Given the description of an element on the screen output the (x, y) to click on. 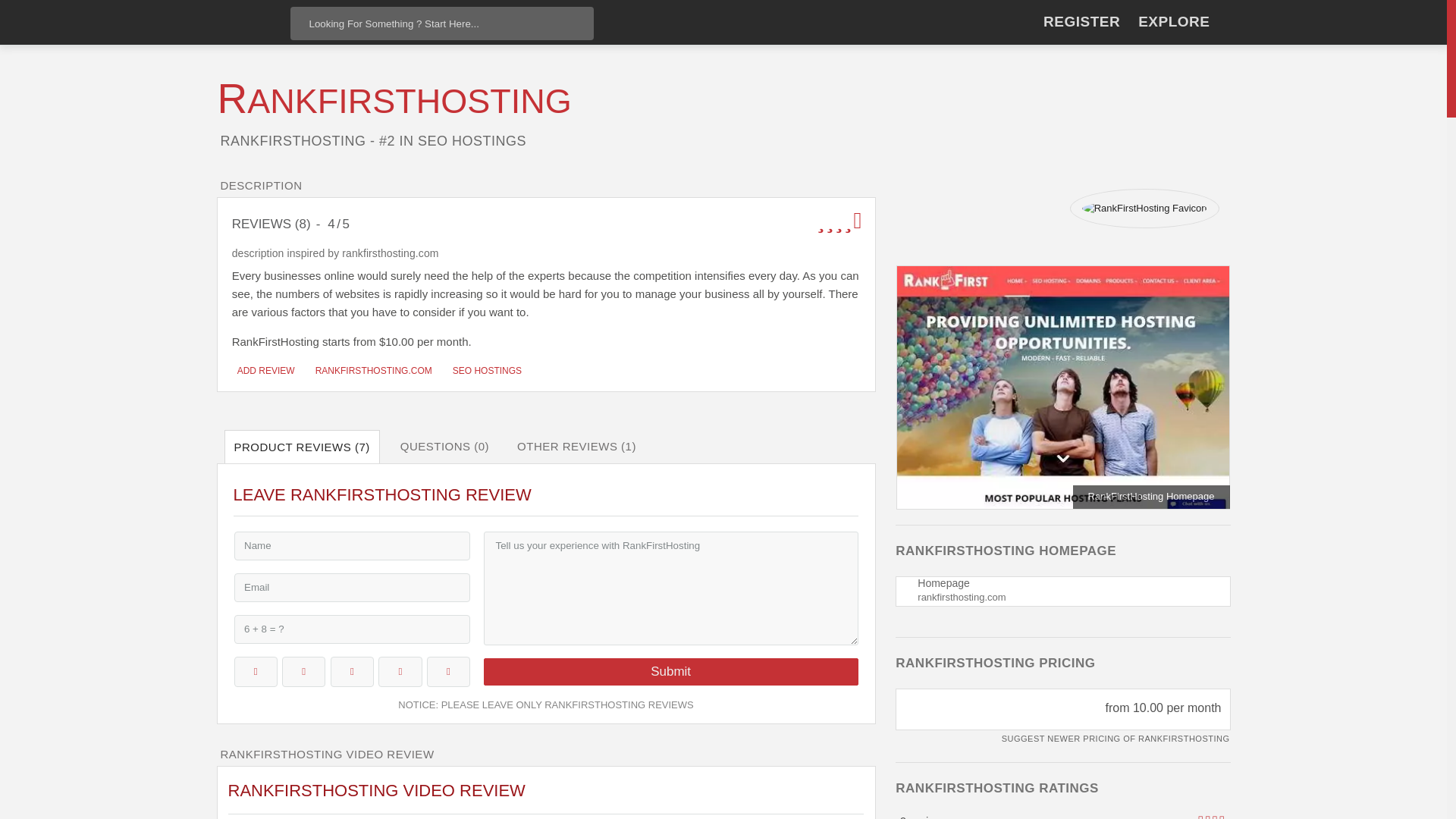
4 (400, 671)
Visit RankFirstHosting Homepage (371, 369)
RANKFIRSTHOSTING (393, 100)
2 (303, 671)
RANKFIRSTHOSTING.COM (371, 369)
Do you have personal experience with RankFirstHosting? (263, 369)
Your Review or Question (671, 588)
3 (352, 671)
ADD REVIEW (263, 369)
RankFirstHosting Reviews (393, 100)
